Given the description of an element on the screen output the (x, y) to click on. 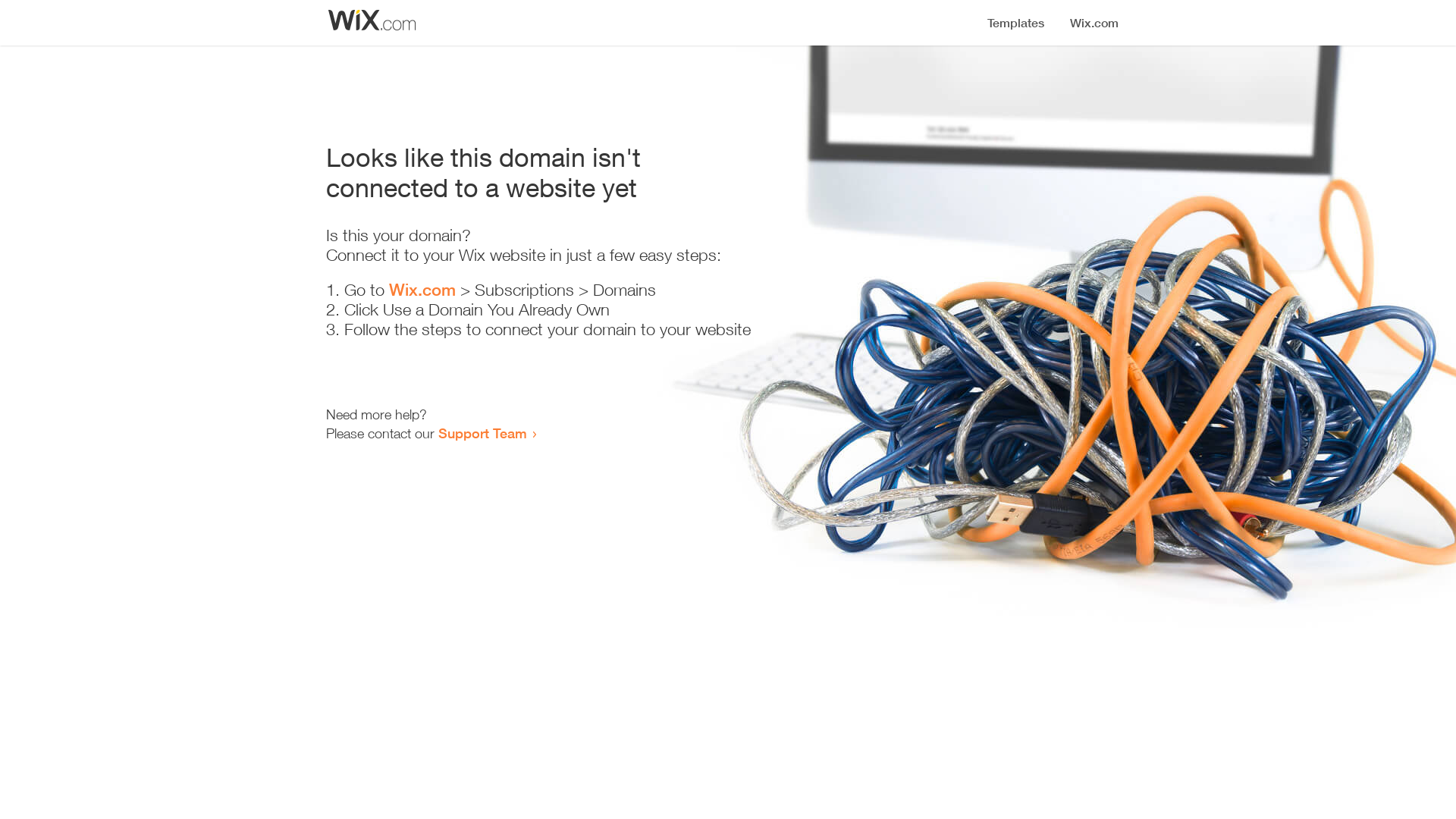
Wix.com Element type: text (422, 289)
Support Team Element type: text (482, 432)
